Given the description of an element on the screen output the (x, y) to click on. 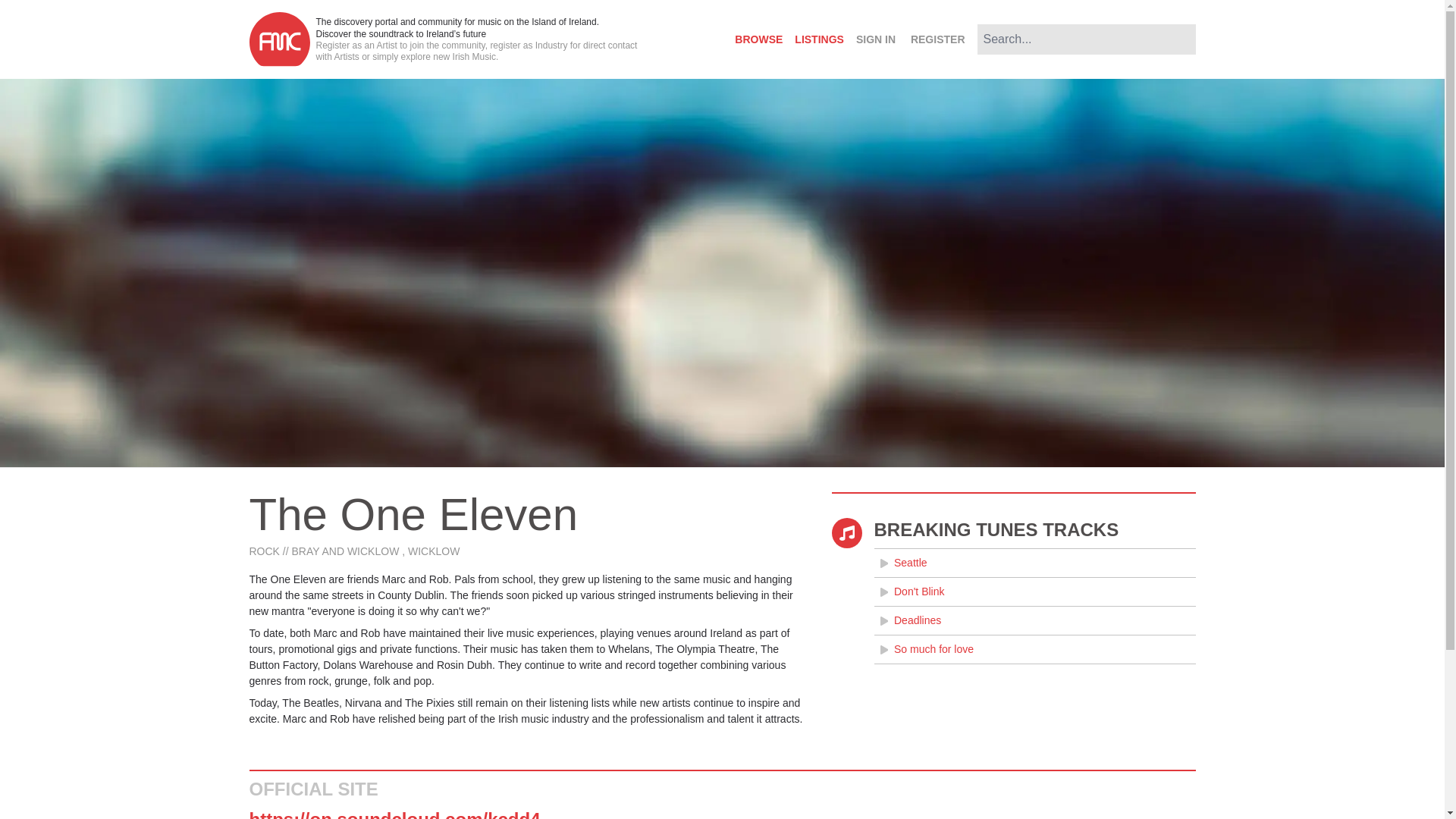
REGISTER (937, 39)
BROWSE (759, 39)
Seattle (1034, 562)
Deadlines (1034, 620)
LISTINGS (819, 39)
SIGN IN (875, 39)
Don't Blink (1034, 592)
So much for love (1034, 649)
